Given the description of an element on the screen output the (x, y) to click on. 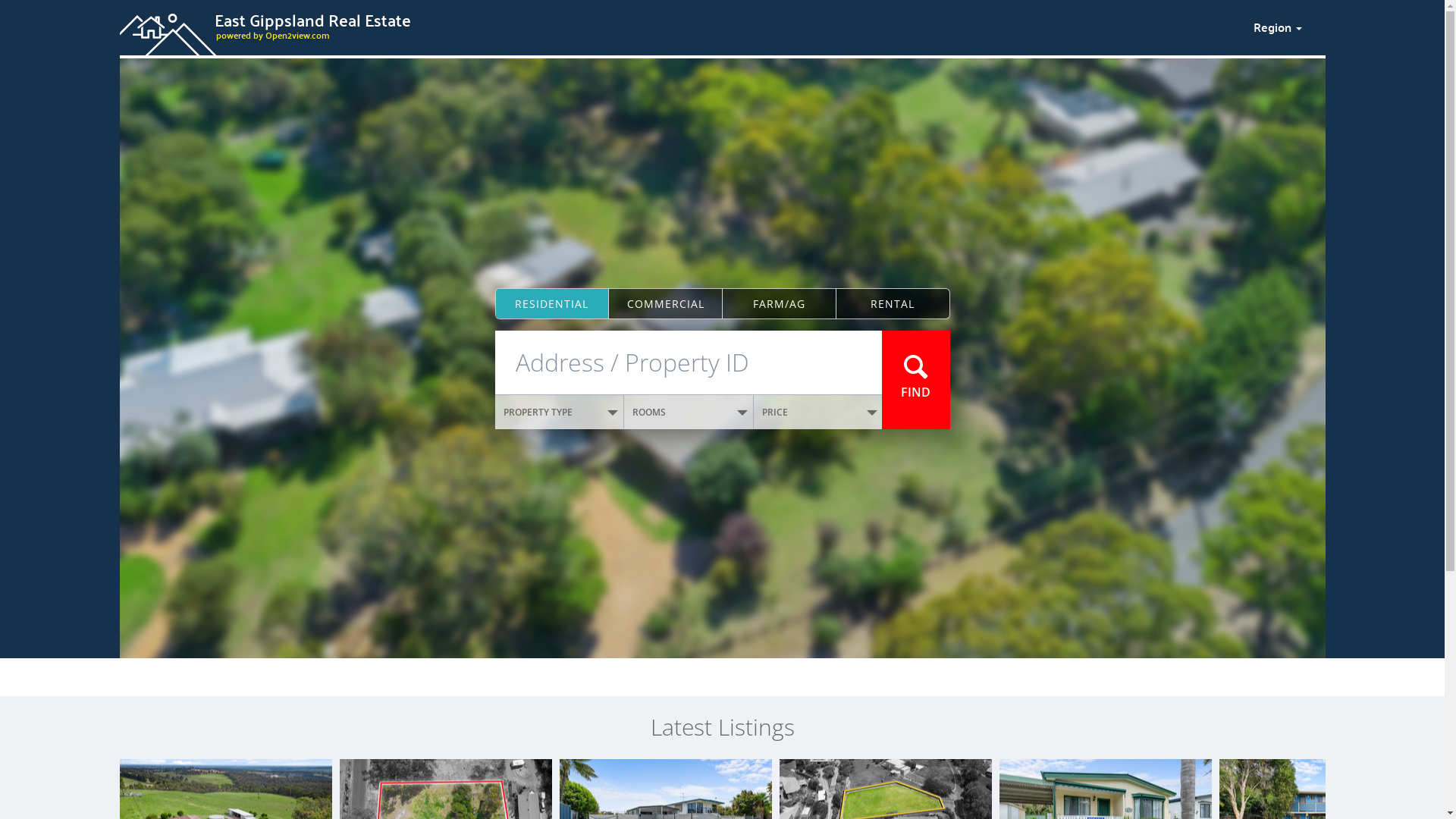
PRICE Element type: text (817, 412)
PROPERTY TYPE Element type: text (559, 412)
ROOMS Element type: text (688, 412)
East Gippsland Real Estate
powered by Open2view.com Element type: text (676, 25)
